Given the description of an element on the screen output the (x, y) to click on. 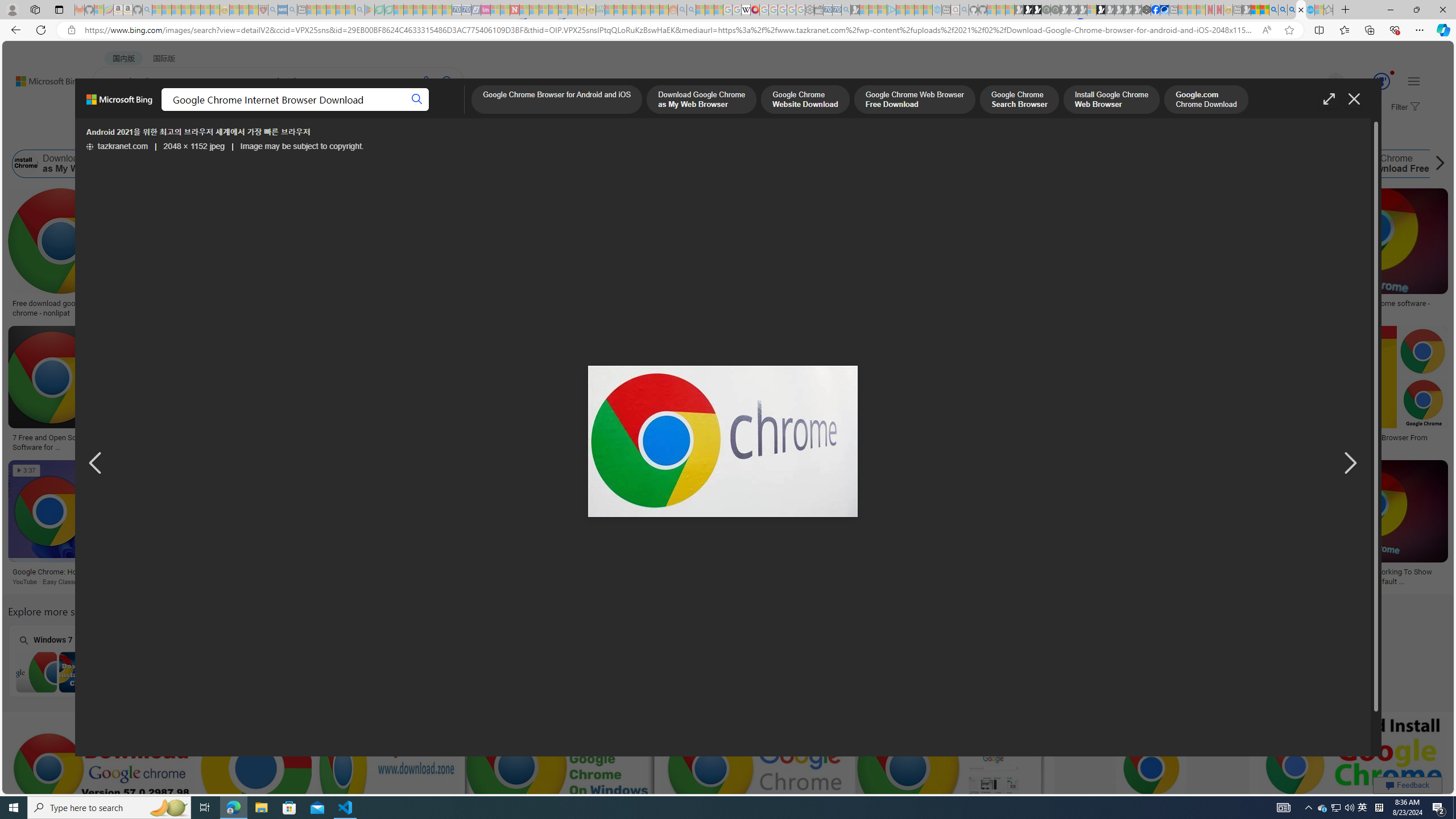
MSN - Sleeping (1246, 9)
Download Google Chrome as My Web Browser (25, 163)
Date (336, 135)
Chrome Browser Download Windows 10 (515, 671)
App bar (728, 29)
Favorites (1344, 29)
Bing Real Estate - Home sales and rental listings - Sleeping (846, 9)
Class: b_pri_nav_svg (240, 112)
Pets - MSN - Sleeping (340, 9)
